Given the description of an element on the screen output the (x, y) to click on. 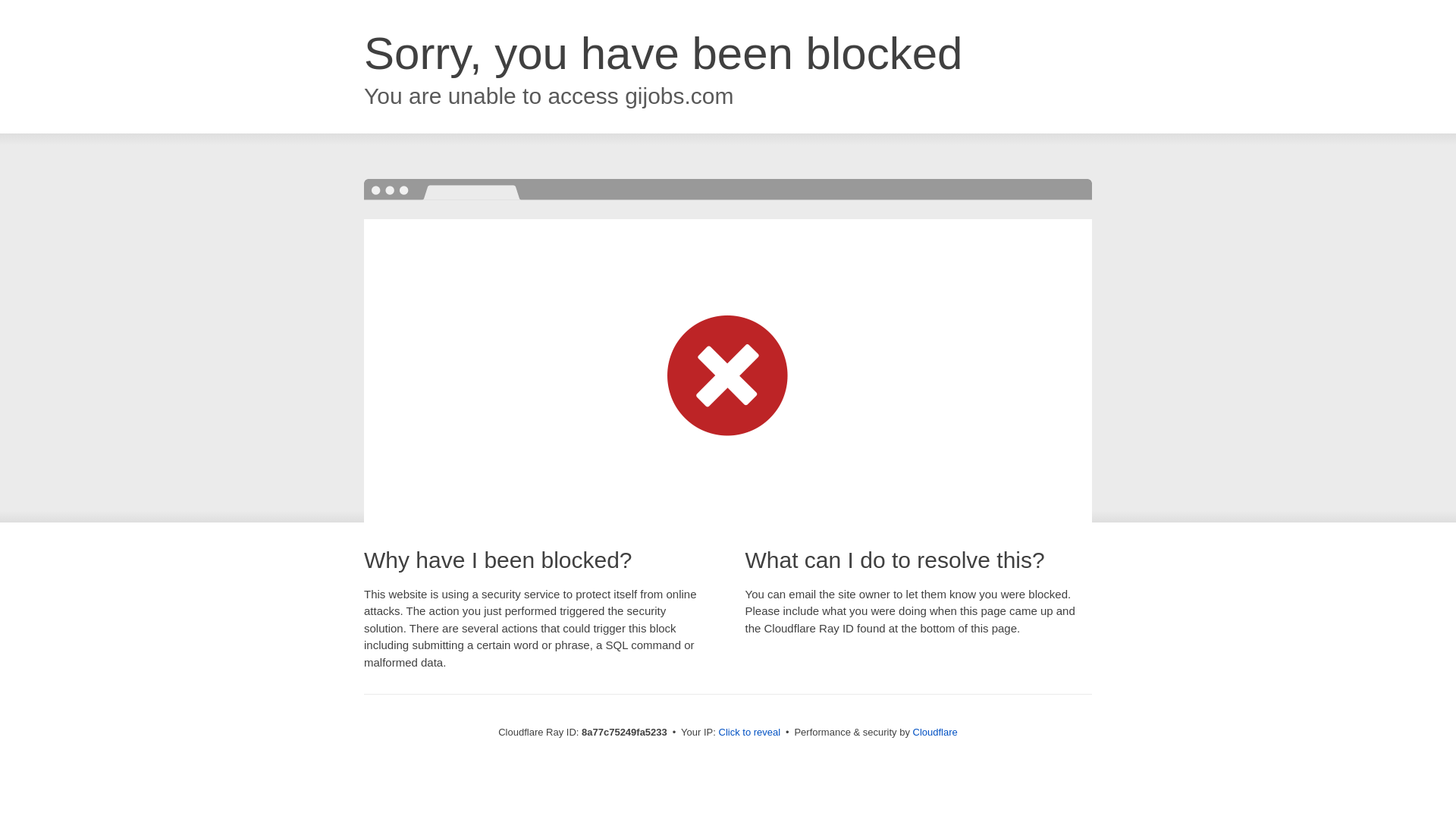
Cloudflare (935, 731)
Click to reveal (749, 732)
